Given the description of an element on the screen output the (x, y) to click on. 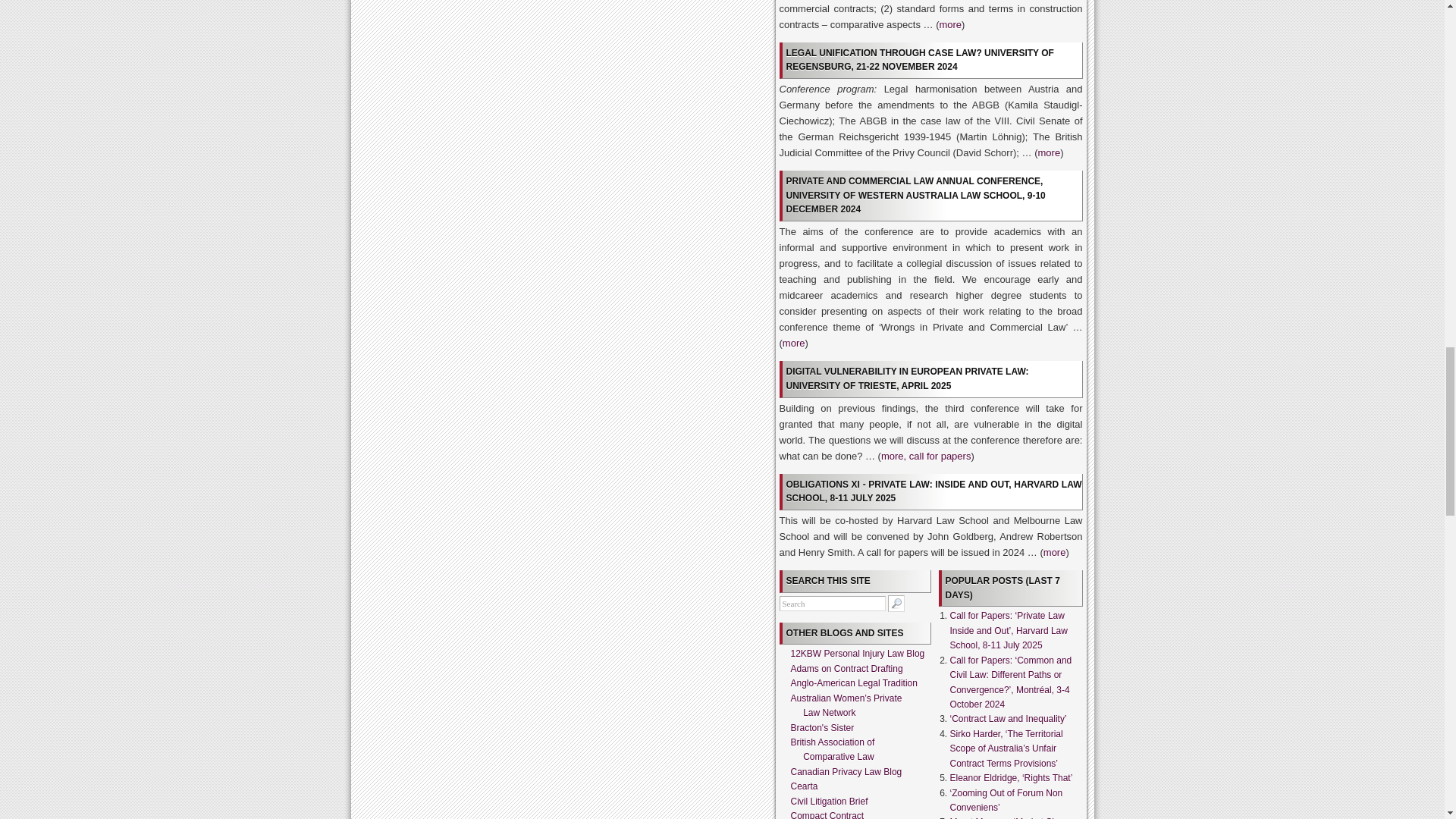
Search (831, 603)
